Given the description of an element on the screen output the (x, y) to click on. 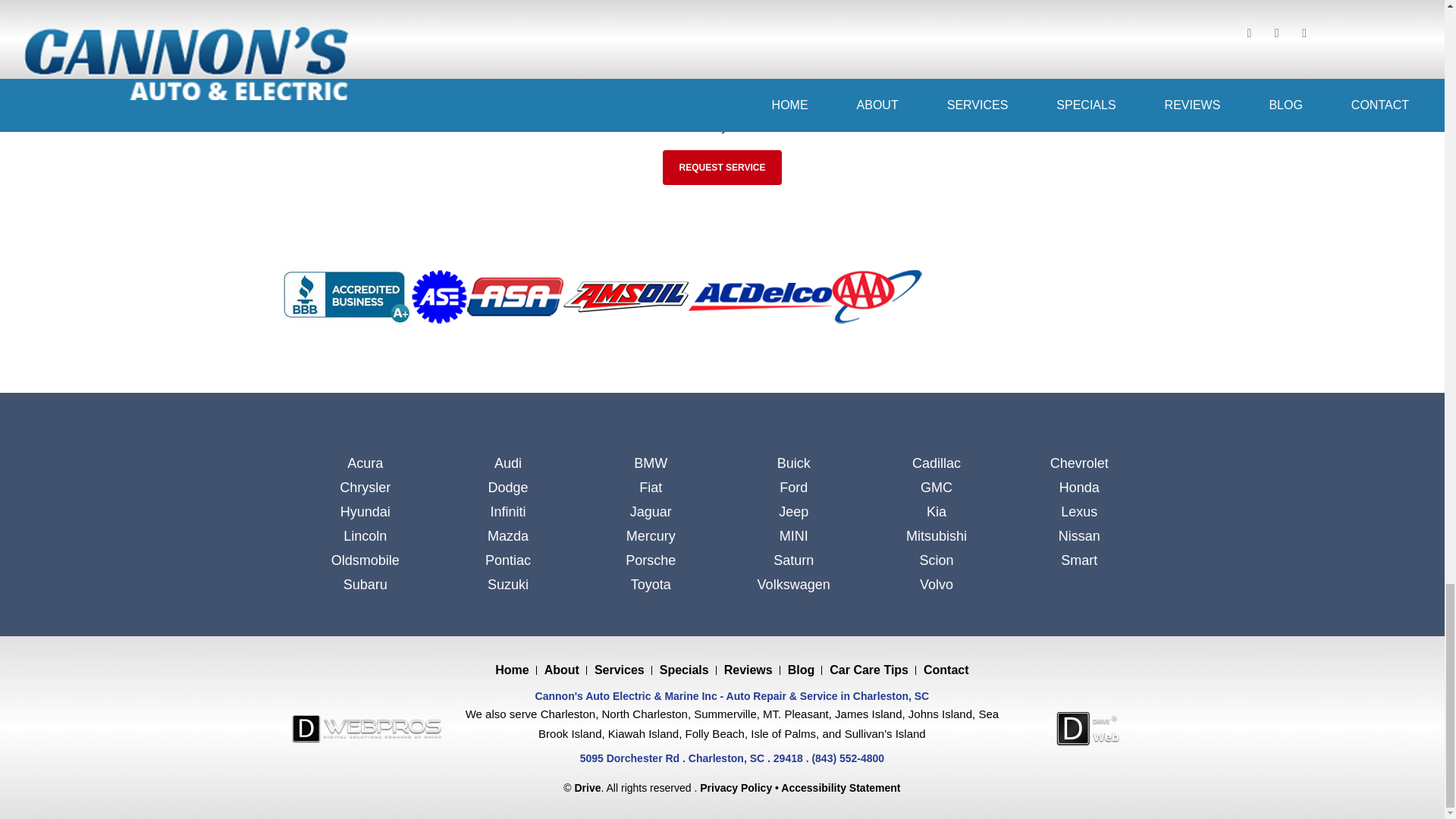
Drive Web (1086, 727)
WebPros (365, 727)
Cadillac (935, 463)
Chevrolet (1078, 463)
Acura (365, 463)
Chrysler (365, 487)
Buick (793, 463)
Audi (507, 463)
BMW (650, 463)
REQUEST SERVICE (722, 167)
